Given the description of an element on the screen output the (x, y) to click on. 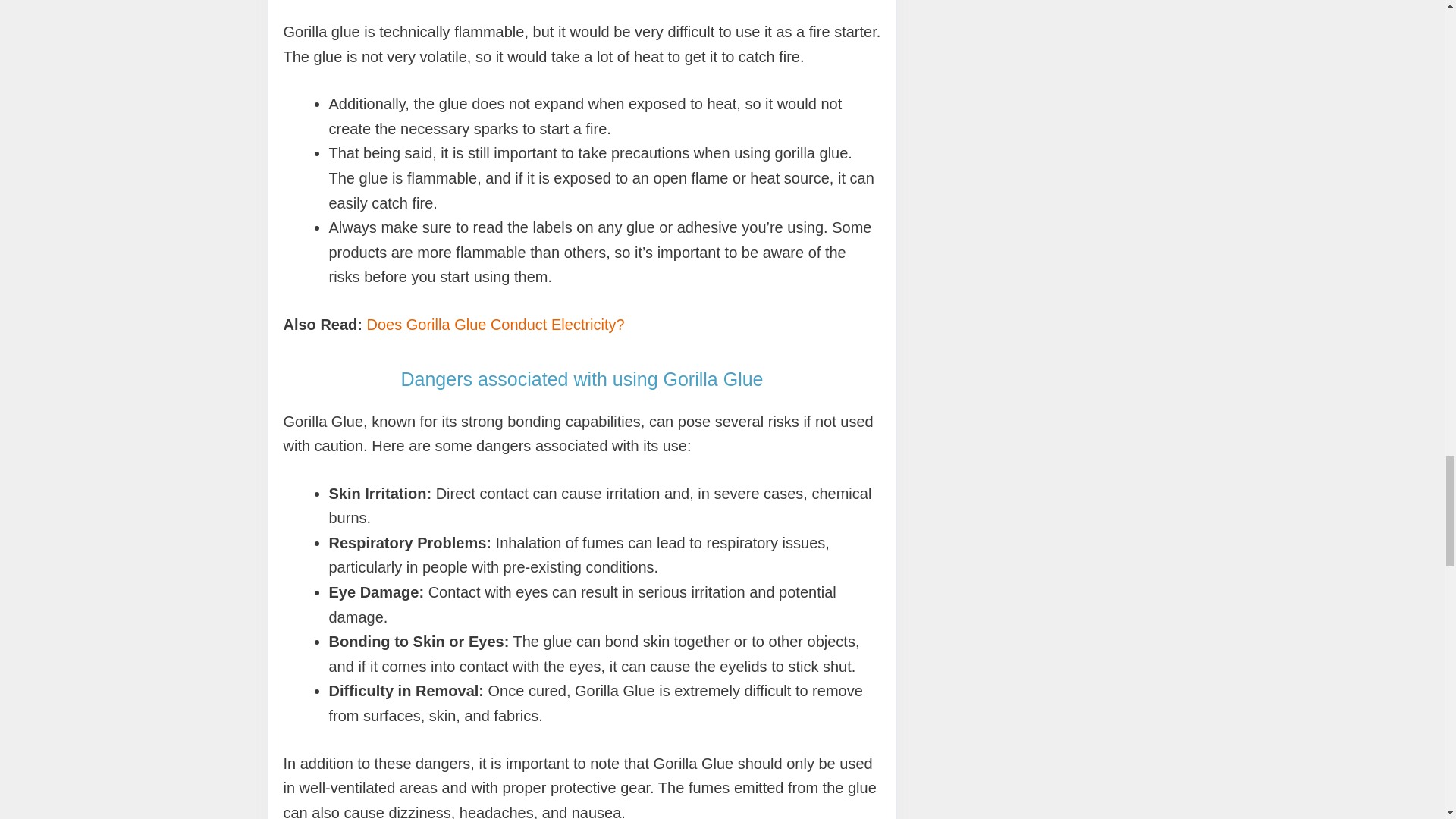
Does Gorilla Glue Conduct Electricity? (495, 324)
